Given the description of an element on the screen output the (x, y) to click on. 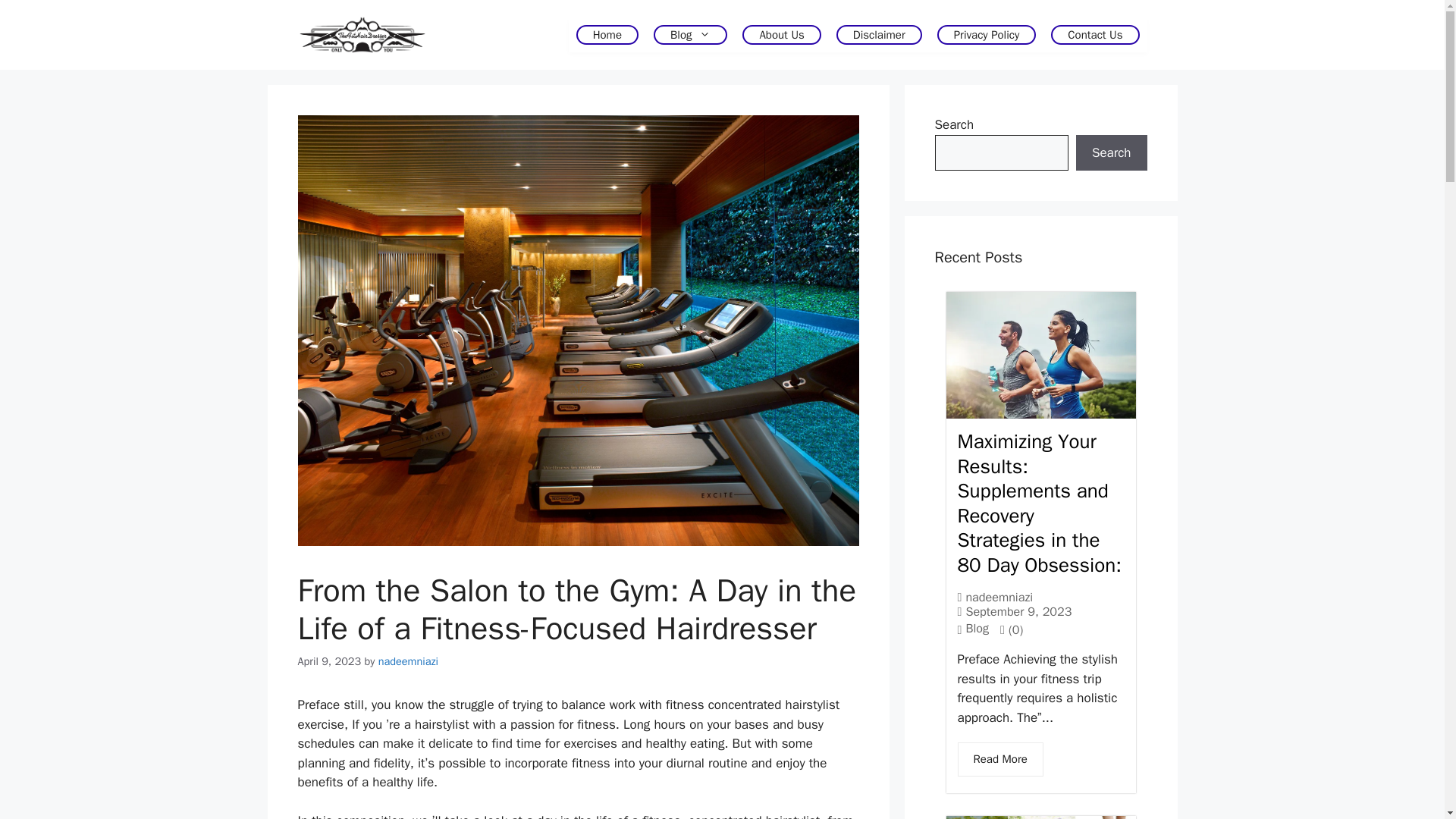
Disclaimer (878, 35)
Privacy Policy (986, 35)
nadeemniazi (998, 597)
Home (607, 35)
Contact Us (1094, 35)
Search (1111, 153)
Blog (976, 627)
Blog (689, 35)
Read More (999, 759)
View all posts by nadeemniazi (408, 661)
nadeemniazi (408, 661)
About Us (781, 35)
